Given the description of an element on the screen output the (x, y) to click on. 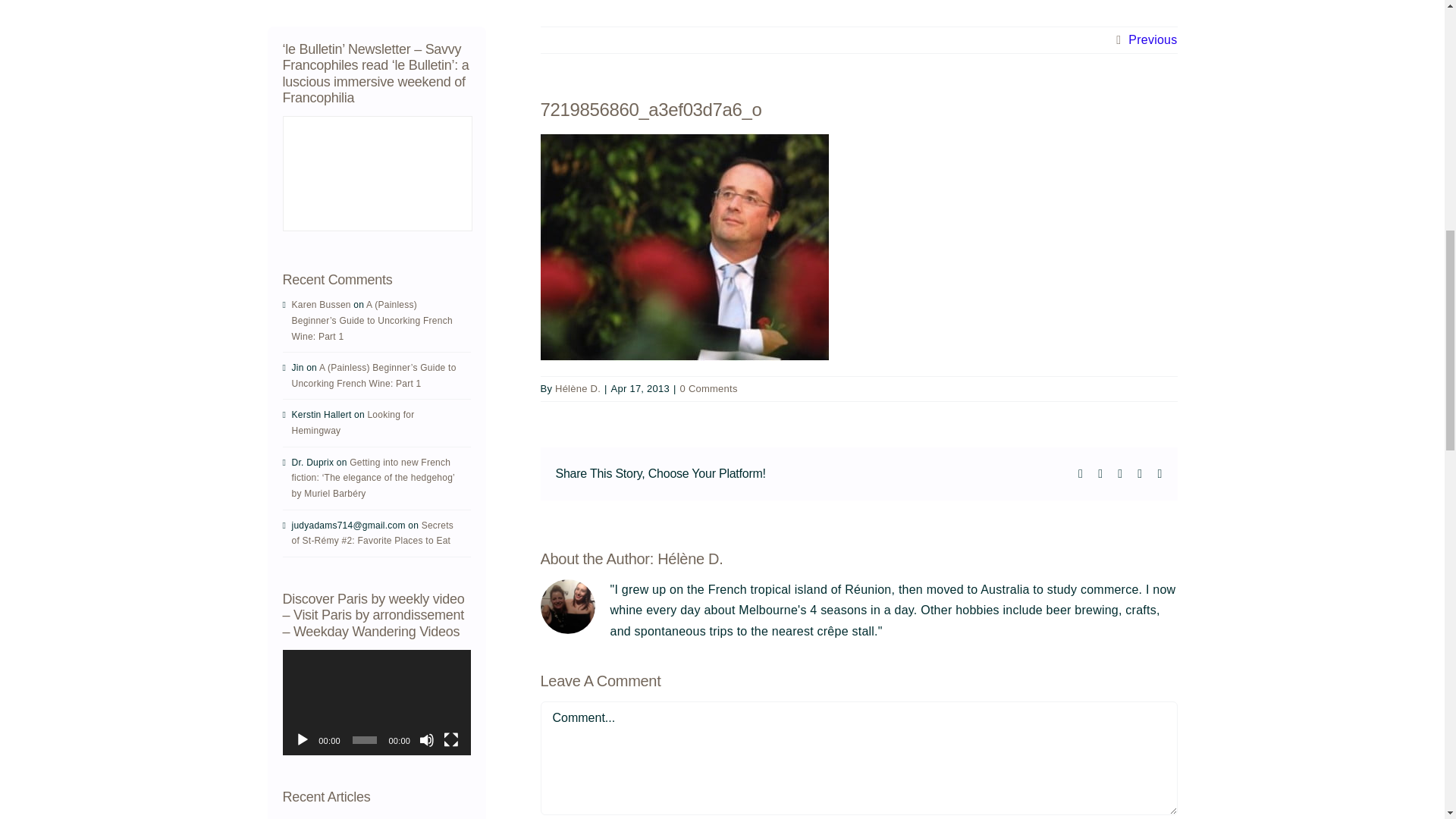
Karen Bussen (320, 304)
Previous (1152, 40)
Mute (426, 739)
Play (301, 739)
0 Comments (708, 388)
Fullscreen (451, 739)
